Given the description of an element on the screen output the (x, y) to click on. 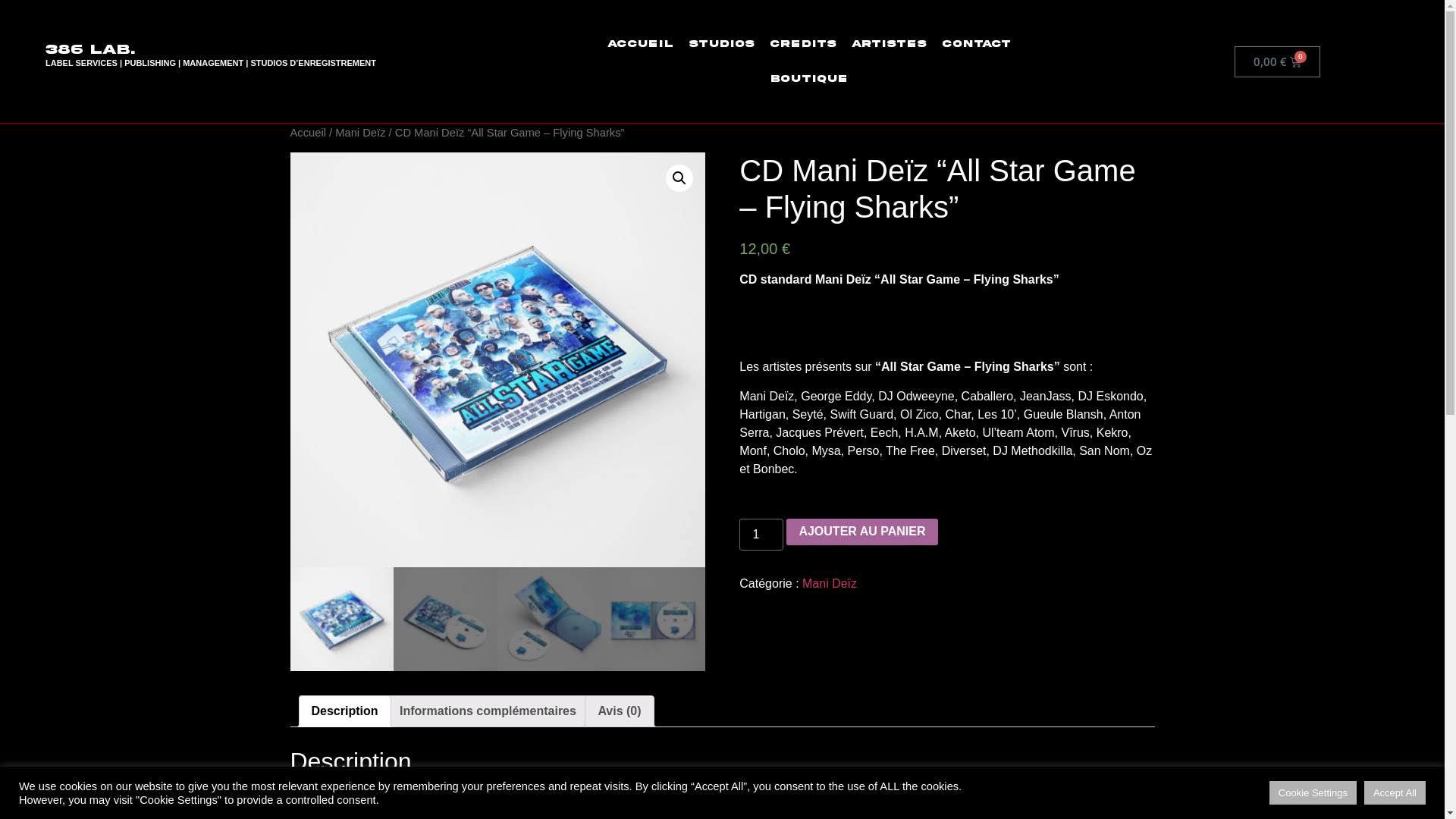
Avis (0) Element type: text (618, 711)
Credits Element type: text (803, 43)
Studios Element type: text (721, 43)
Mockups Design Element type: hover (496, 359)
Accueil Element type: text (639, 43)
Artistes Element type: text (889, 43)
Cookie Settings Element type: text (1312, 792)
Boutique Element type: text (808, 78)
Description Element type: text (343, 711)
Contact Element type: text (976, 43)
Accept All Element type: text (1394, 792)
Accueil Element type: text (307, 132)
AJOUTER AU PANIER Element type: text (861, 532)
